Given the description of an element on the screen output the (x, y) to click on. 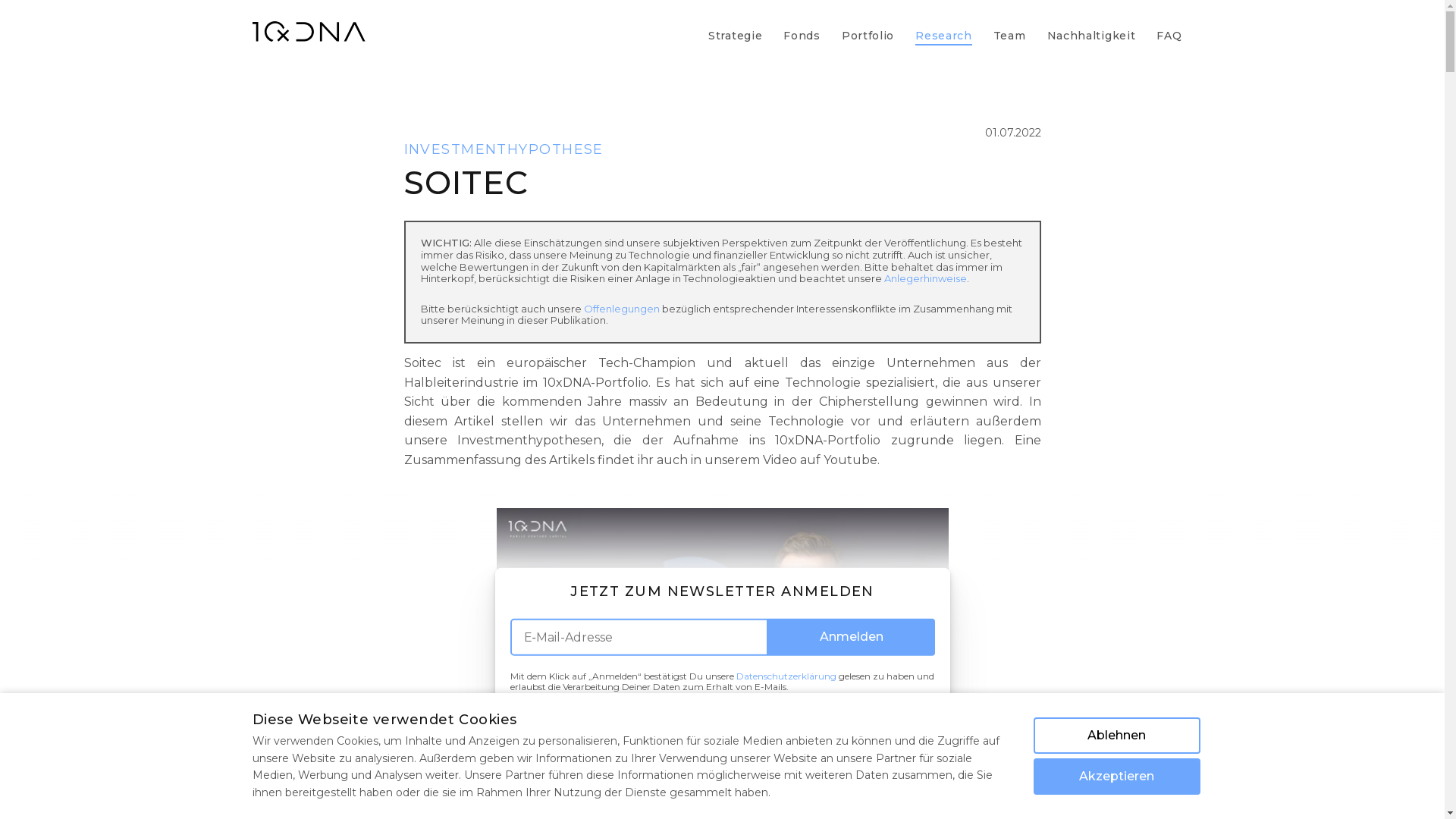
AUSBLENDEN Element type: text (721, 718)
9:58 Element type: text (721, 635)
Offenlegungen Element type: text (621, 308)
Team Element type: text (1009, 25)
Research Element type: text (943, 25)
Akzeptieren Element type: text (1115, 776)
Anmelden Element type: text (850, 636)
FAQ Element type: text (1168, 25)
Fonds Element type: text (801, 25)
Nachhaltigkeit Element type: text (1091, 25)
Ablehnen Element type: text (1115, 735)
Anlegerhinweise Element type: text (925, 278)
Strategie Element type: text (734, 25)
Portfolio Element type: text (867, 25)
